Given the description of an element on the screen output the (x, y) to click on. 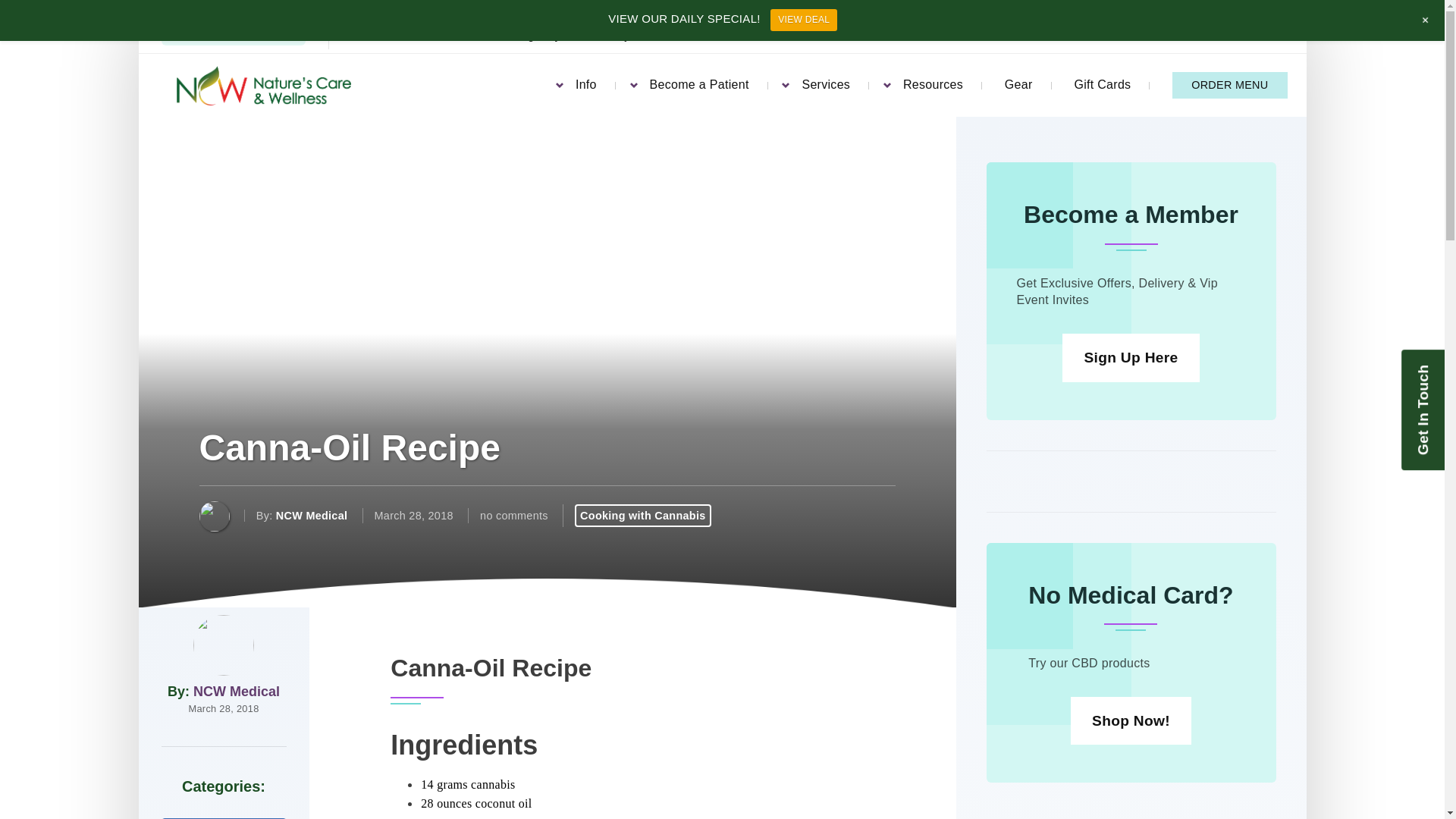
Become a Patient (699, 82)
Gift Cards (1102, 85)
ORDER MENU (1229, 85)
Services (826, 83)
Resources (932, 85)
